Given the description of an element on the screen output the (x, y) to click on. 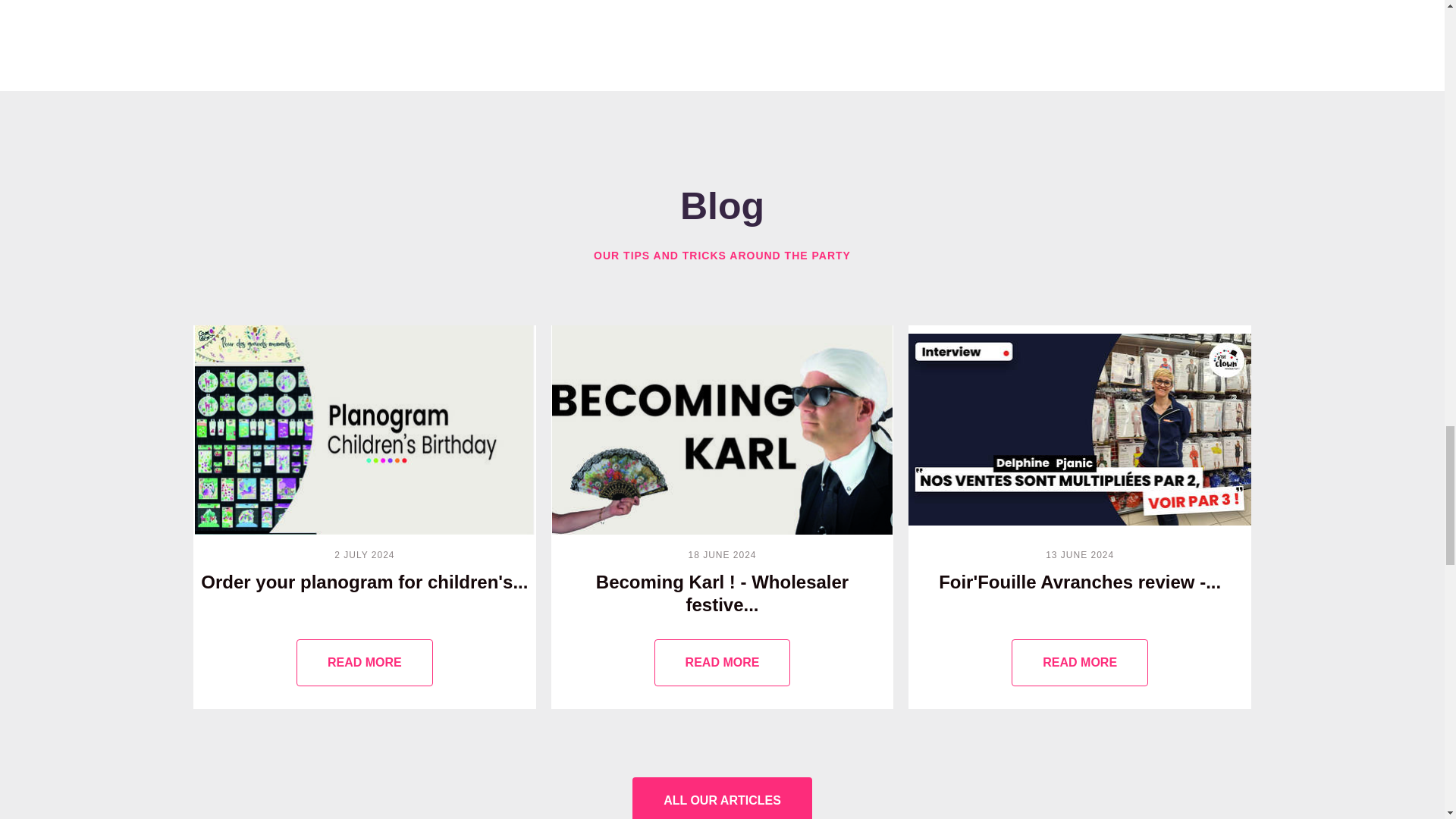
Order your planogram for children's... (364, 517)
Foir'Fouille Avranches review -... (1079, 517)
Becoming Karl ! - Wholesaler festive... (721, 662)
Foir'Fouille Avranches review -... (1079, 662)
Order your planogram for children's... (364, 662)
Becoming Karl ! - Wholesaler festive... (722, 517)
All our articles (721, 798)
